Given the description of an element on the screen output the (x, y) to click on. 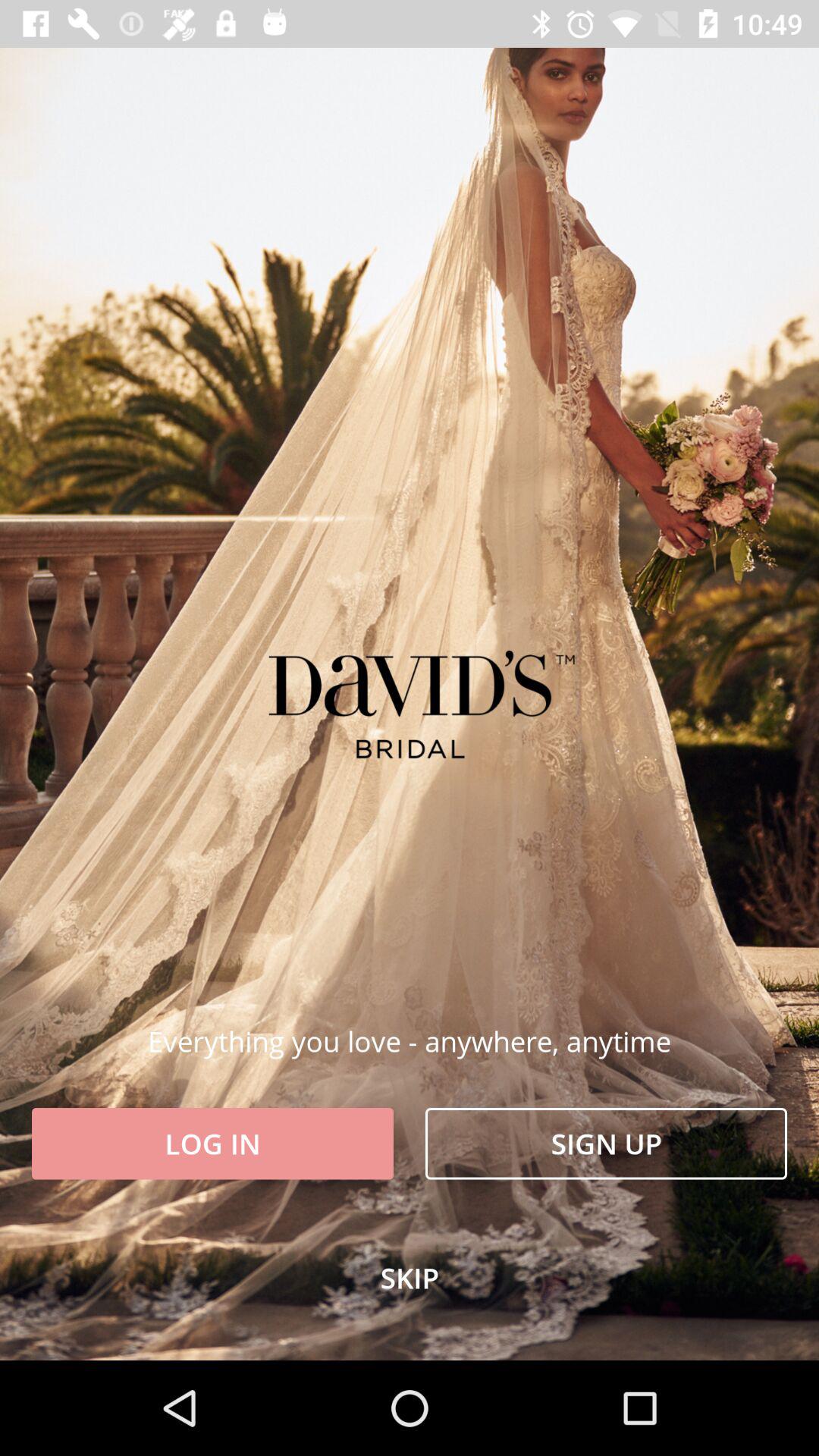
launch the icon above skip icon (606, 1143)
